Given the description of an element on the screen output the (x, y) to click on. 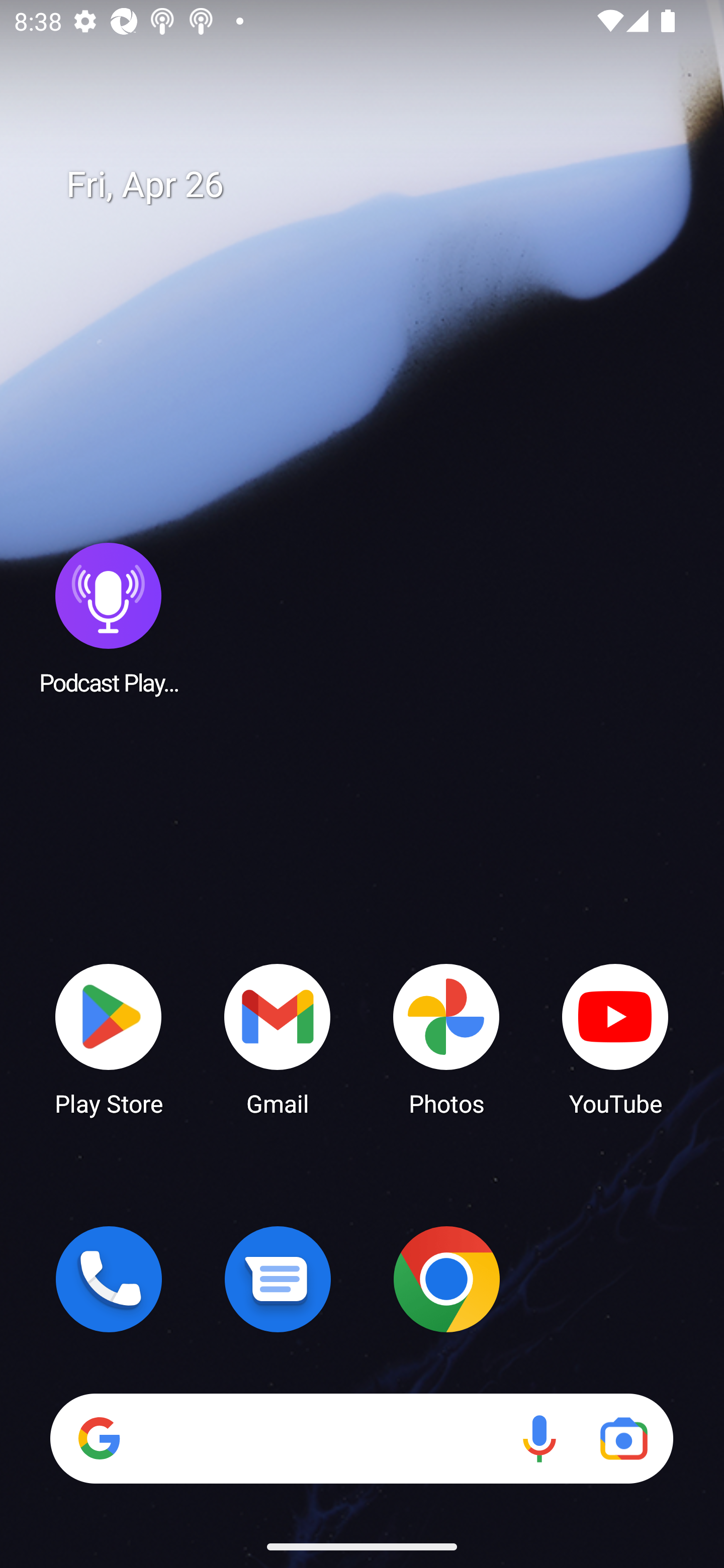
Fri, Apr 26 (375, 184)
Podcast Player (108, 617)
Play Store (108, 1038)
Gmail (277, 1038)
Photos (445, 1038)
YouTube (615, 1038)
Phone (108, 1279)
Messages (277, 1279)
Chrome (446, 1279)
Search Voice search Google Lens (361, 1438)
Voice search (539, 1438)
Google Lens (623, 1438)
